Given the description of an element on the screen output the (x, y) to click on. 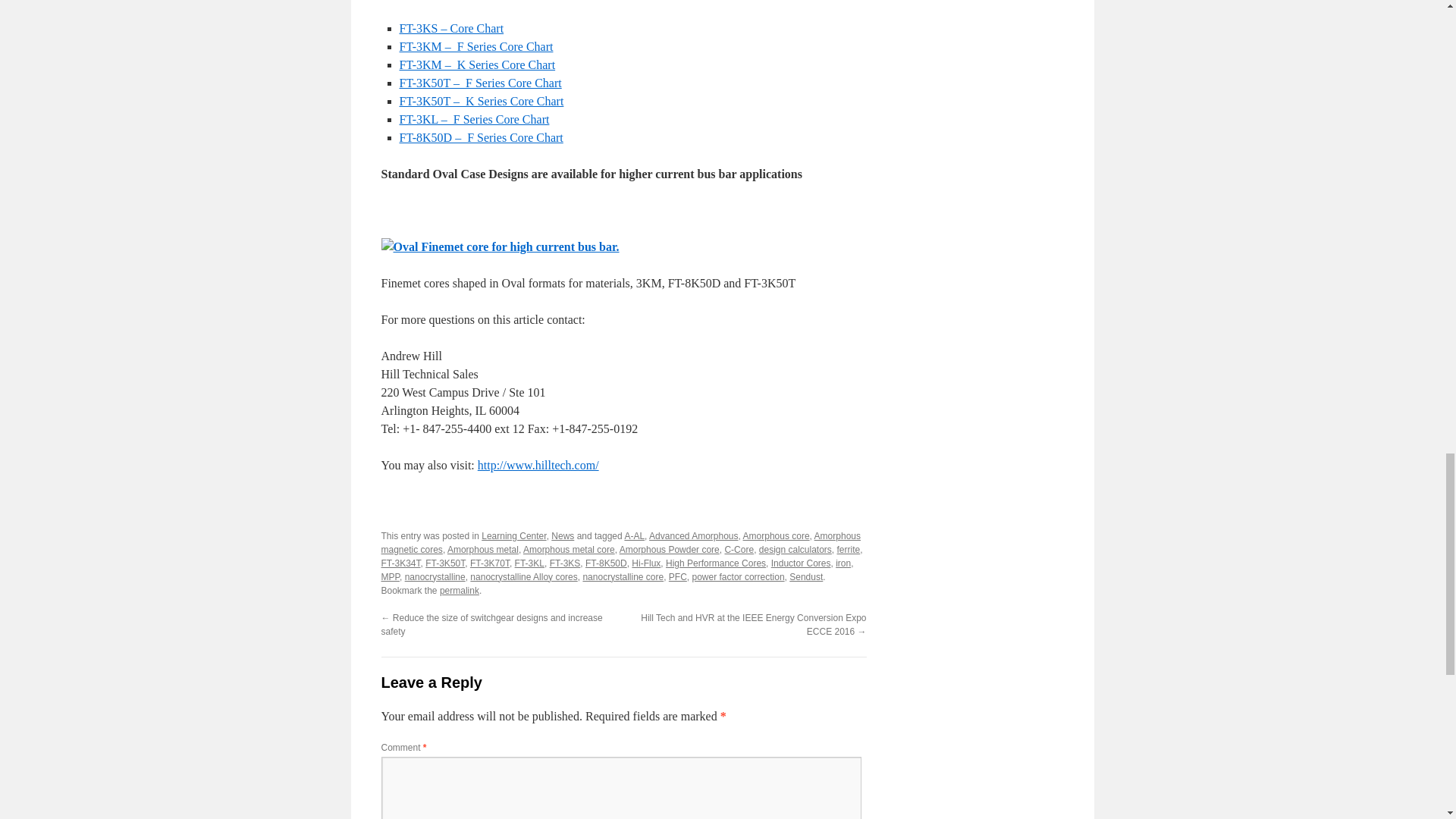
News (562, 535)
Amorphous metal (482, 549)
Advanced Amorphous (693, 535)
C-Core (738, 549)
design calculators (794, 549)
FT-3KS (565, 562)
FT-3KL (529, 562)
FT-3K50T (444, 562)
Amorphous core (775, 535)
ferrite (848, 549)
Amorphous Powder core (669, 549)
A-AL (634, 535)
Amorphous metal core (568, 549)
Amorphous magnetic cores (620, 542)
Learning Center (513, 535)
